Given the description of an element on the screen output the (x, y) to click on. 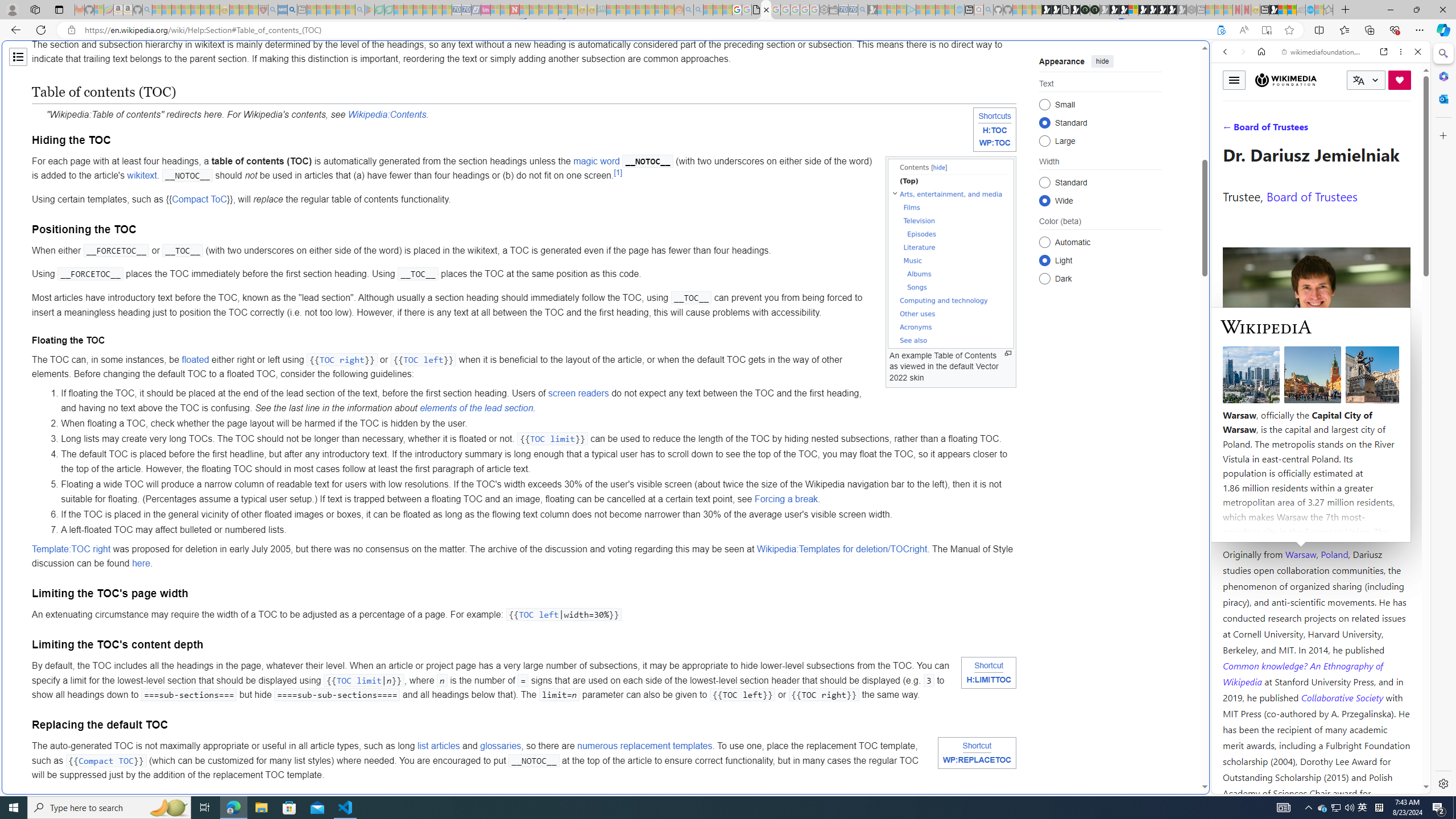
Compact TOC (105, 760)
Wikimedia Foundation (1286, 79)
H:LIMITTOC (988, 679)
Toggle menu (1233, 80)
CURRENT LANGUAGE: (1366, 80)
The Weather Channel - MSN - Sleeping (175, 9)
google_privacy_policy_zh-CN.pdf (1118, 683)
H:TOC (994, 130)
Expert Portfolios - Sleeping (639, 9)
